Given the description of an element on the screen output the (x, y) to click on. 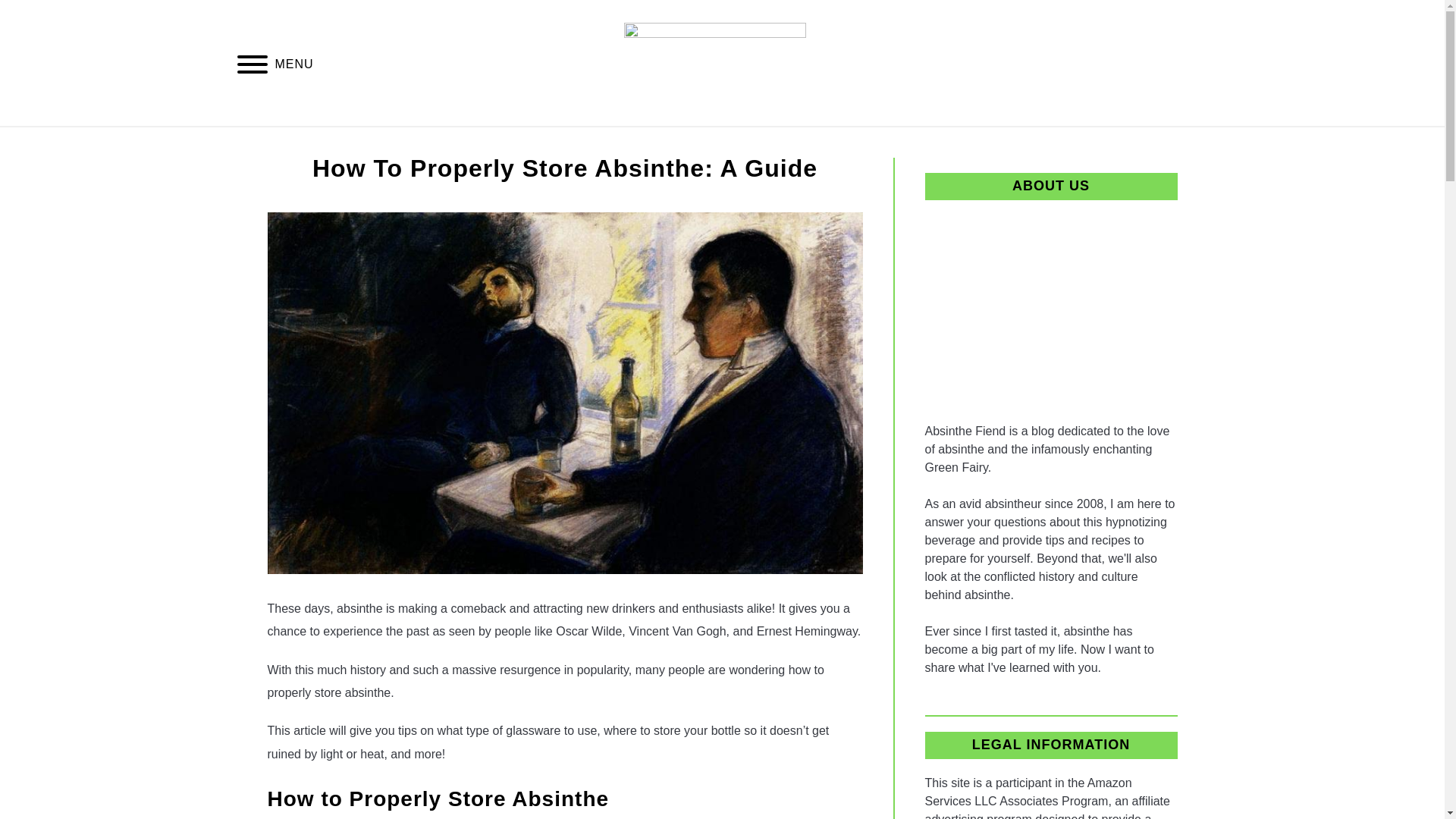
REVIEWS (672, 144)
RECIPES (767, 144)
ABOUT (853, 144)
BLOG (586, 144)
MENU (251, 67)
Search (1203, 62)
